Given the description of an element on the screen output the (x, y) to click on. 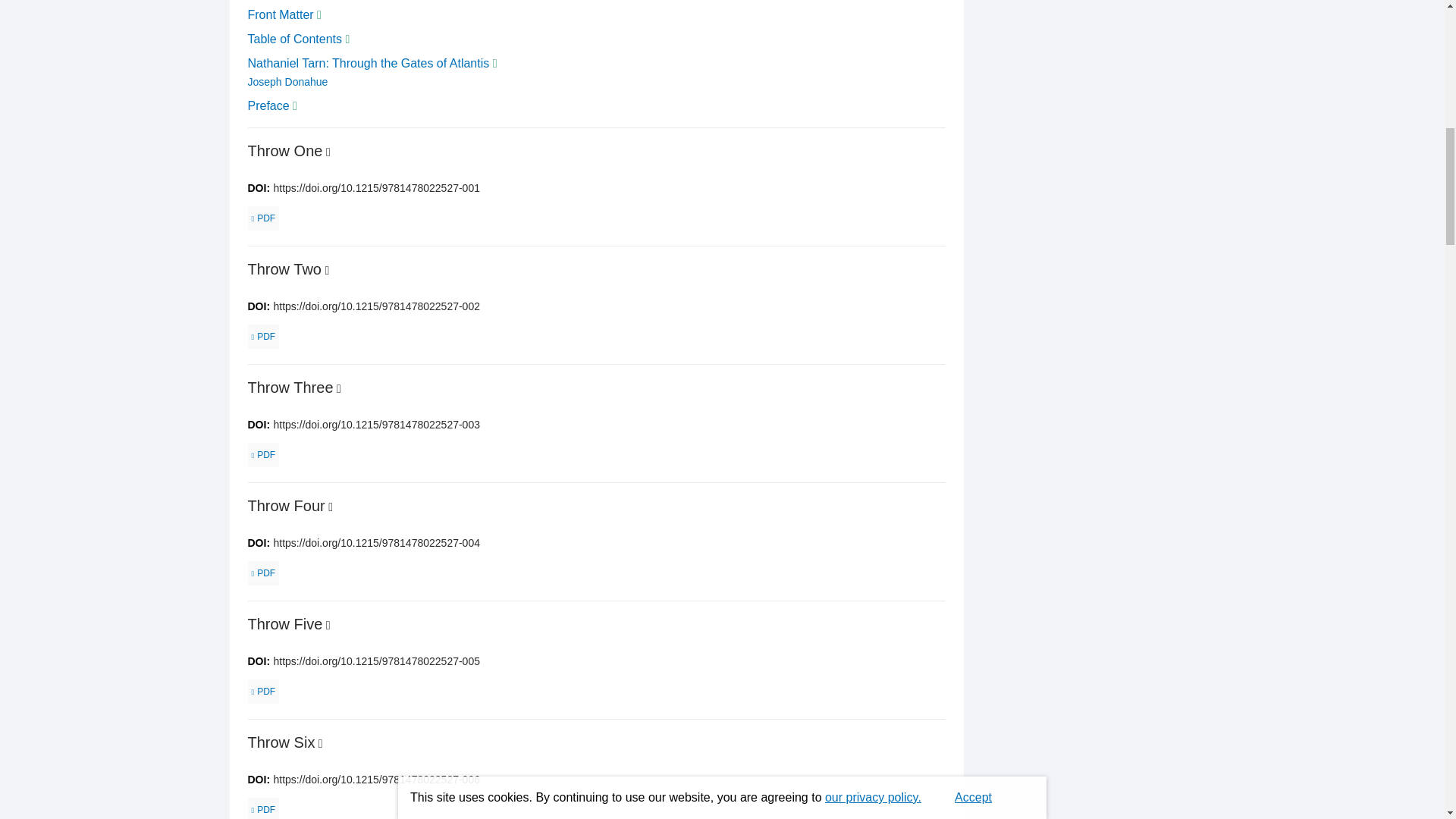
Available to Purchase (320, 743)
Available to Purchase (331, 506)
Available to Purchase (328, 151)
Free (319, 14)
Free (294, 105)
Available to Purchase (328, 625)
Available to Purchase (326, 269)
Free (495, 62)
Available to Purchase (338, 388)
Free (347, 38)
